Given the description of an element on the screen output the (x, y) to click on. 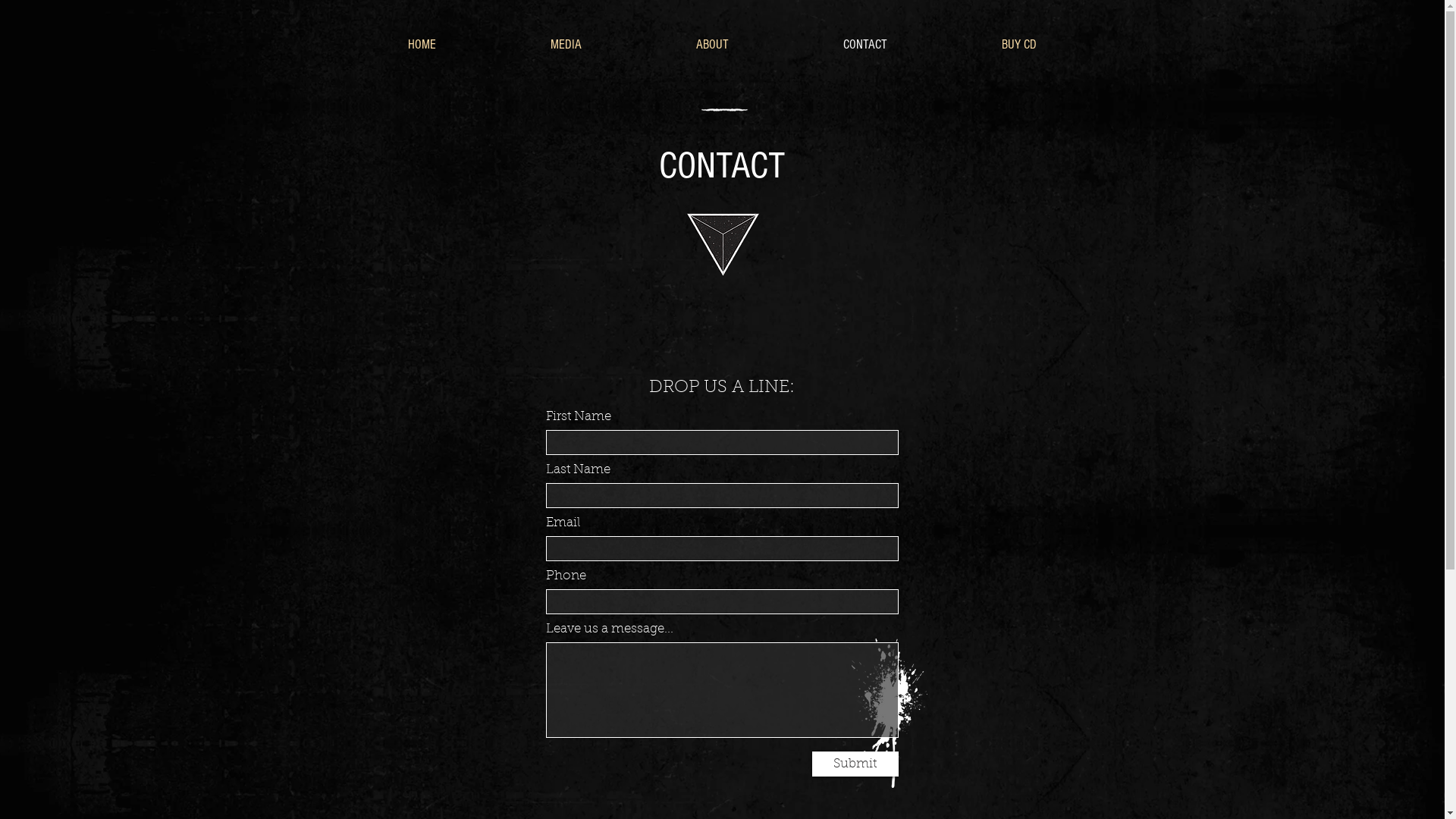
BUY CD Element type: text (1019, 44)
ABOUT Element type: text (711, 44)
Submit Element type: text (854, 763)
HOME Element type: text (421, 44)
MEDIA Element type: text (565, 44)
CONTACT Element type: text (864, 44)
